Given the description of an element on the screen output the (x, y) to click on. 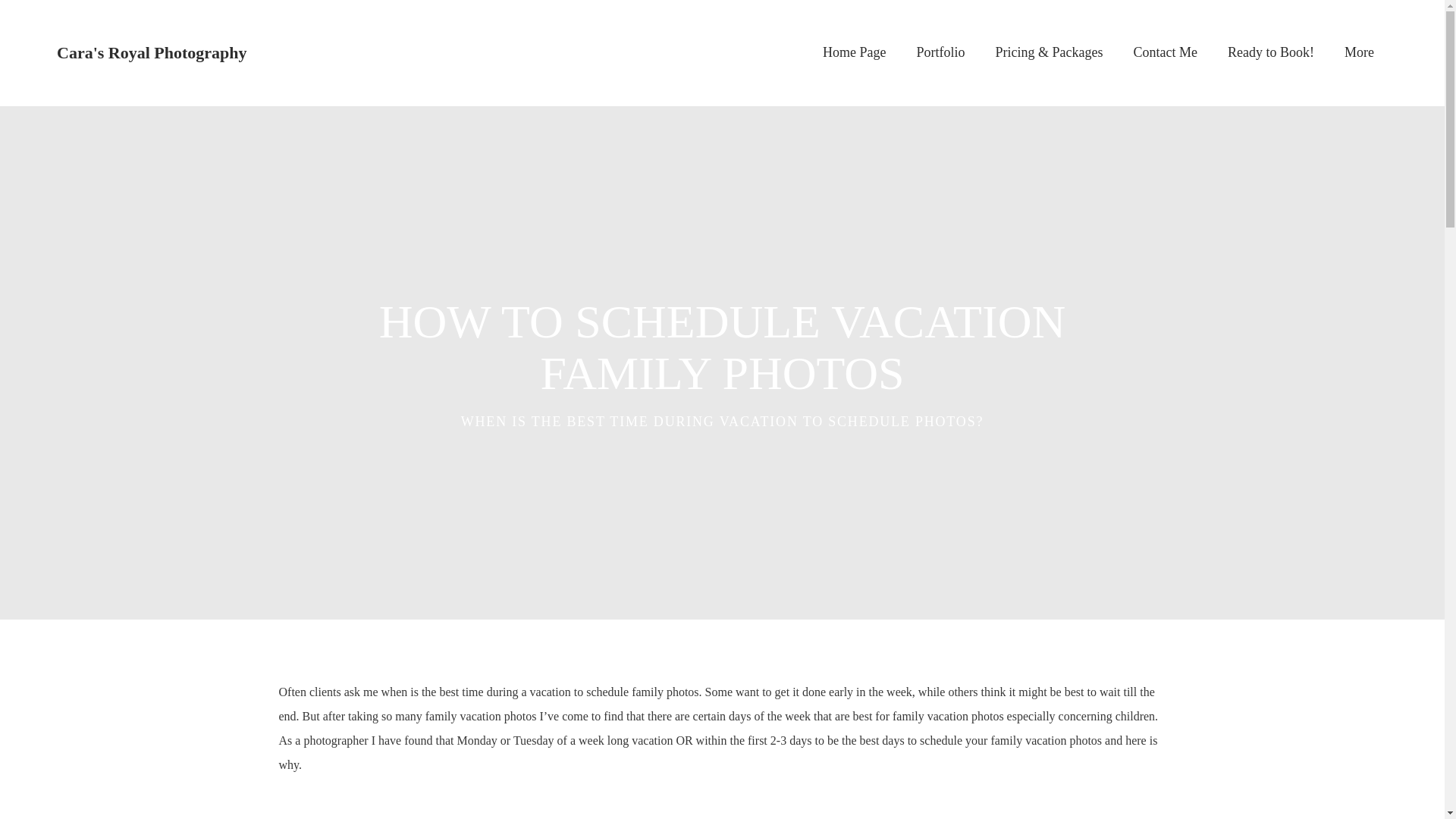
Cara's Royal Photography (151, 53)
Portfolio (940, 52)
More (1365, 52)
Ready to Book! (1271, 52)
Home Page (854, 52)
Contact Me (1165, 52)
